Given the description of an element on the screen output the (x, y) to click on. 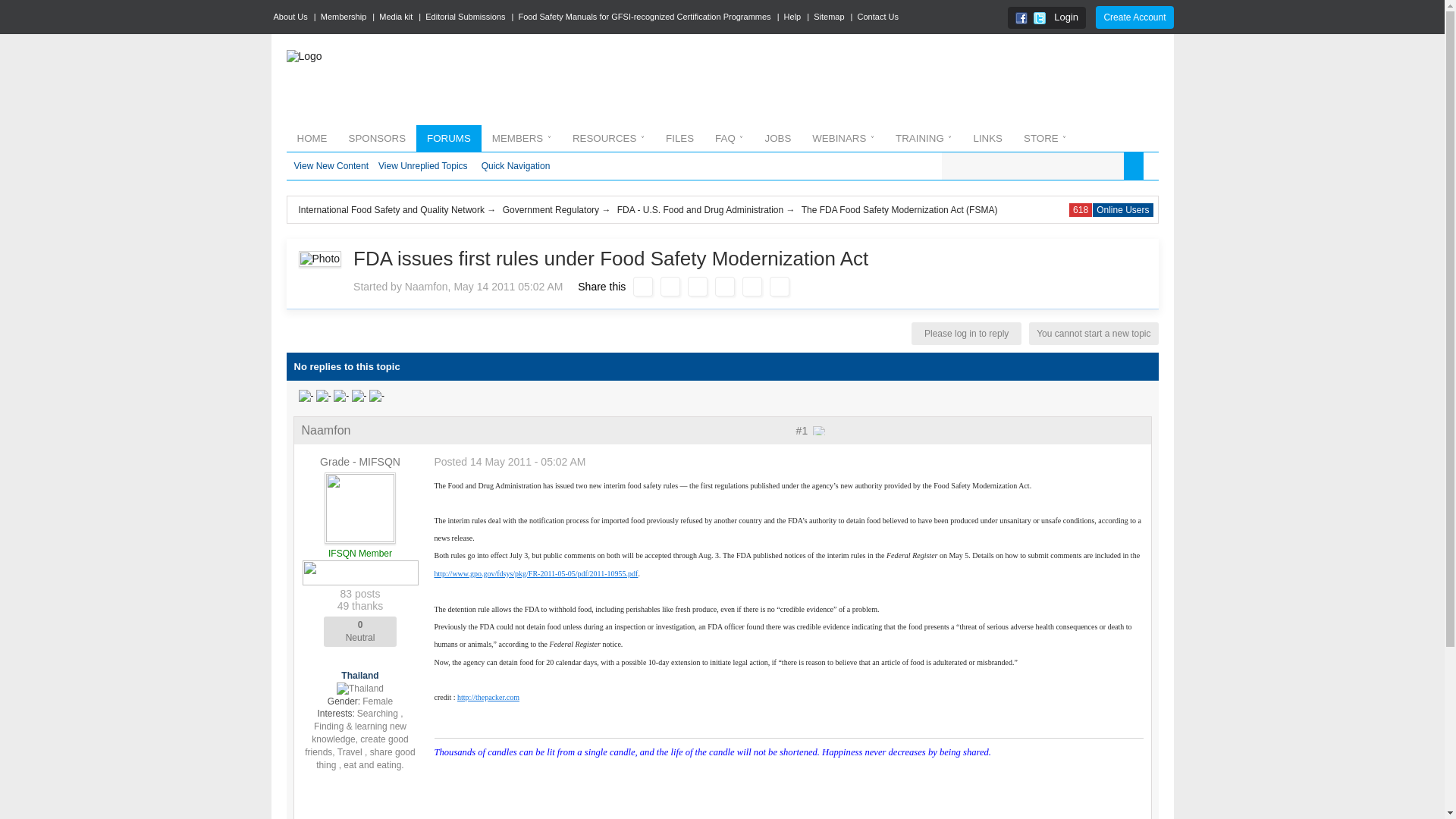
Sitemap (828, 16)
Login (1066, 16)
Editorial Submissions (465, 16)
SPONSORS (376, 138)
FILES (679, 138)
About Us (290, 16)
Membership (344, 16)
HOME (311, 138)
Create Account (1134, 16)
Media kit (396, 16)
